Given the description of an element on the screen output the (x, y) to click on. 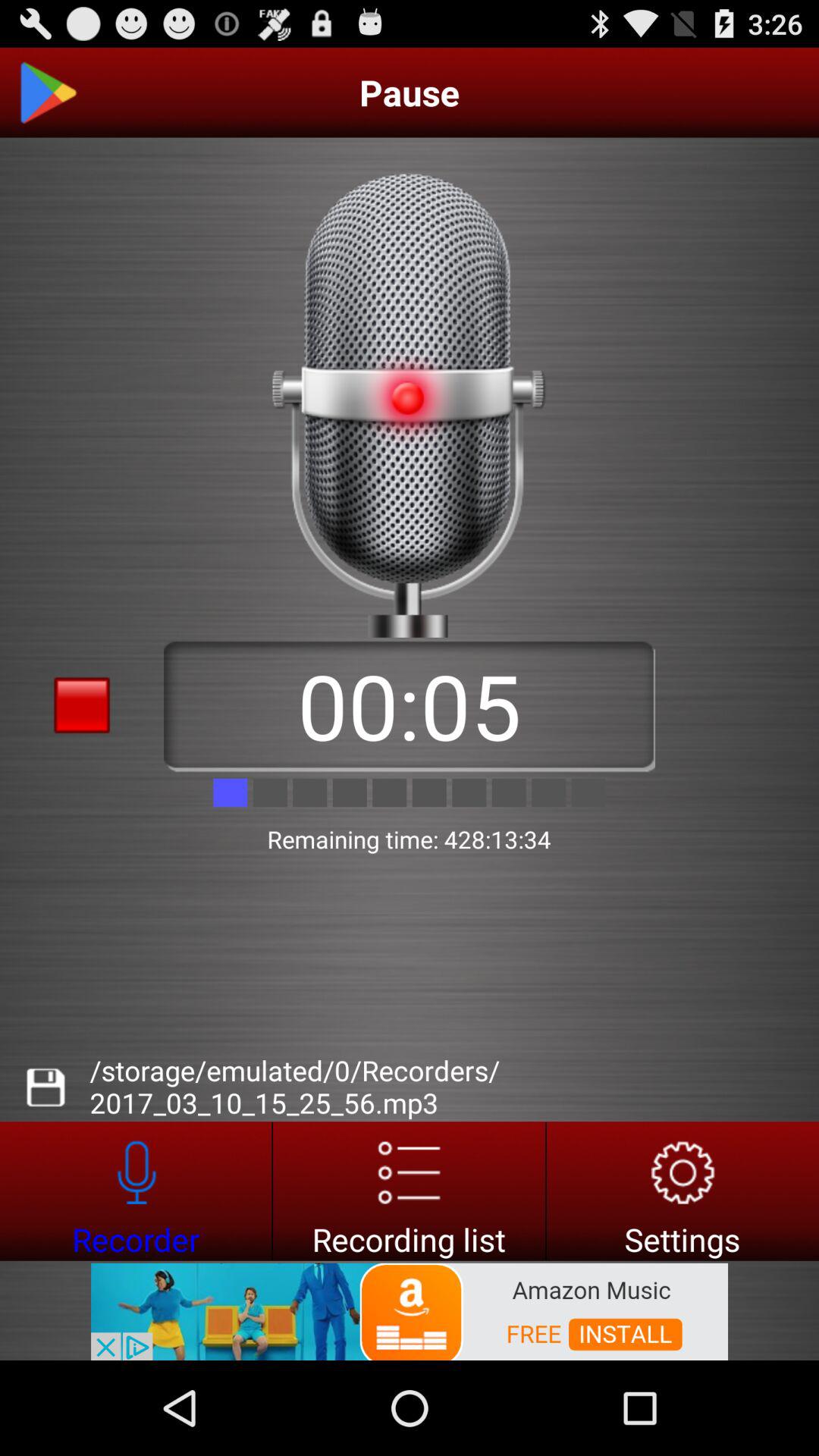
open settings (682, 1190)
